Given the description of an element on the screen output the (x, y) to click on. 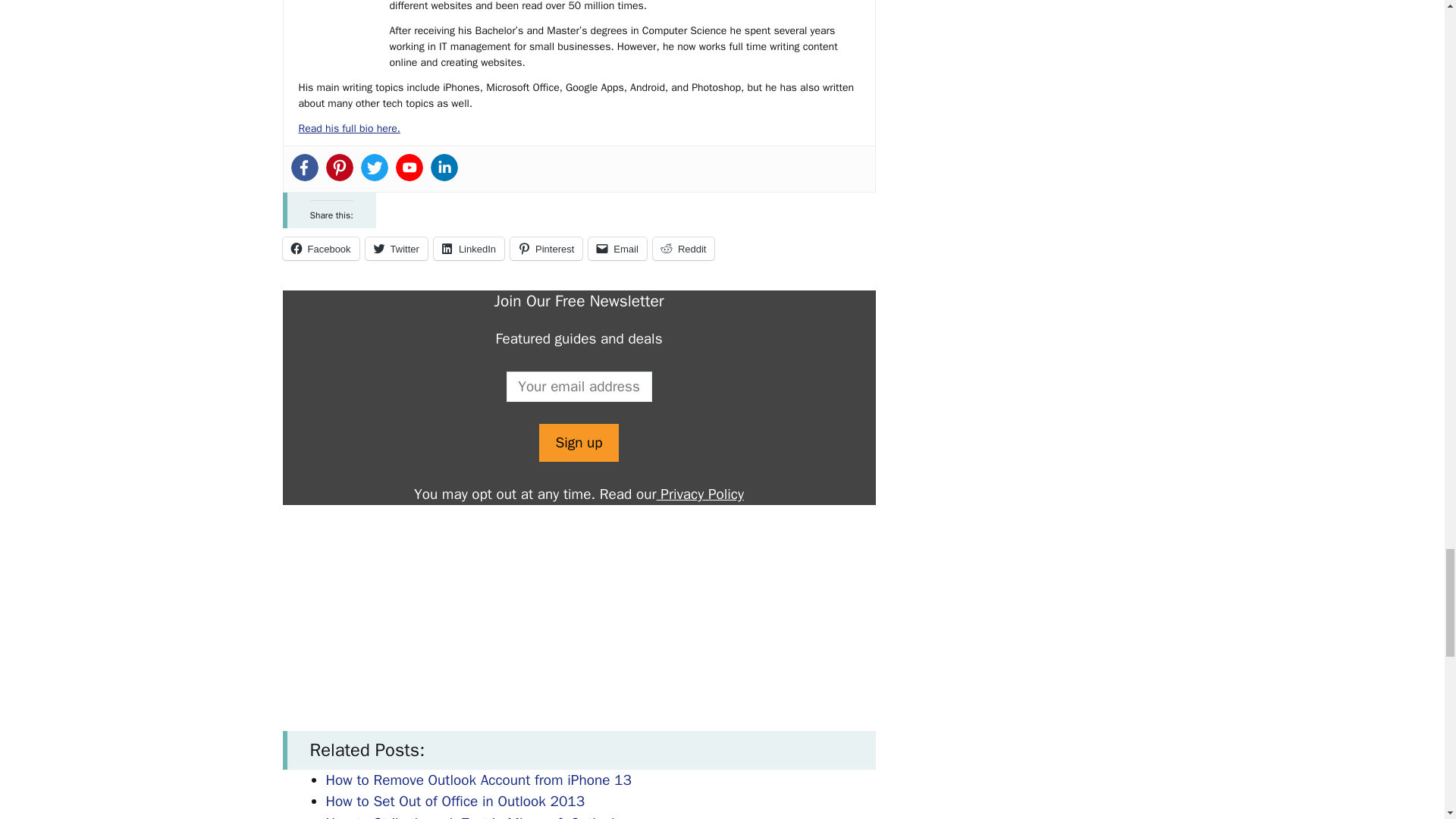
Click to share on Twitter (396, 248)
Linkedin (444, 166)
Twitter (396, 248)
Click to share on Facebook (320, 248)
Youtube (409, 166)
How to Remove Outlook Account from iPhone 13 (478, 780)
Sign up (577, 443)
Click to email a link to a friend (617, 248)
Facebook (320, 248)
Click to share on LinkedIn (468, 248)
